Given the description of an element on the screen output the (x, y) to click on. 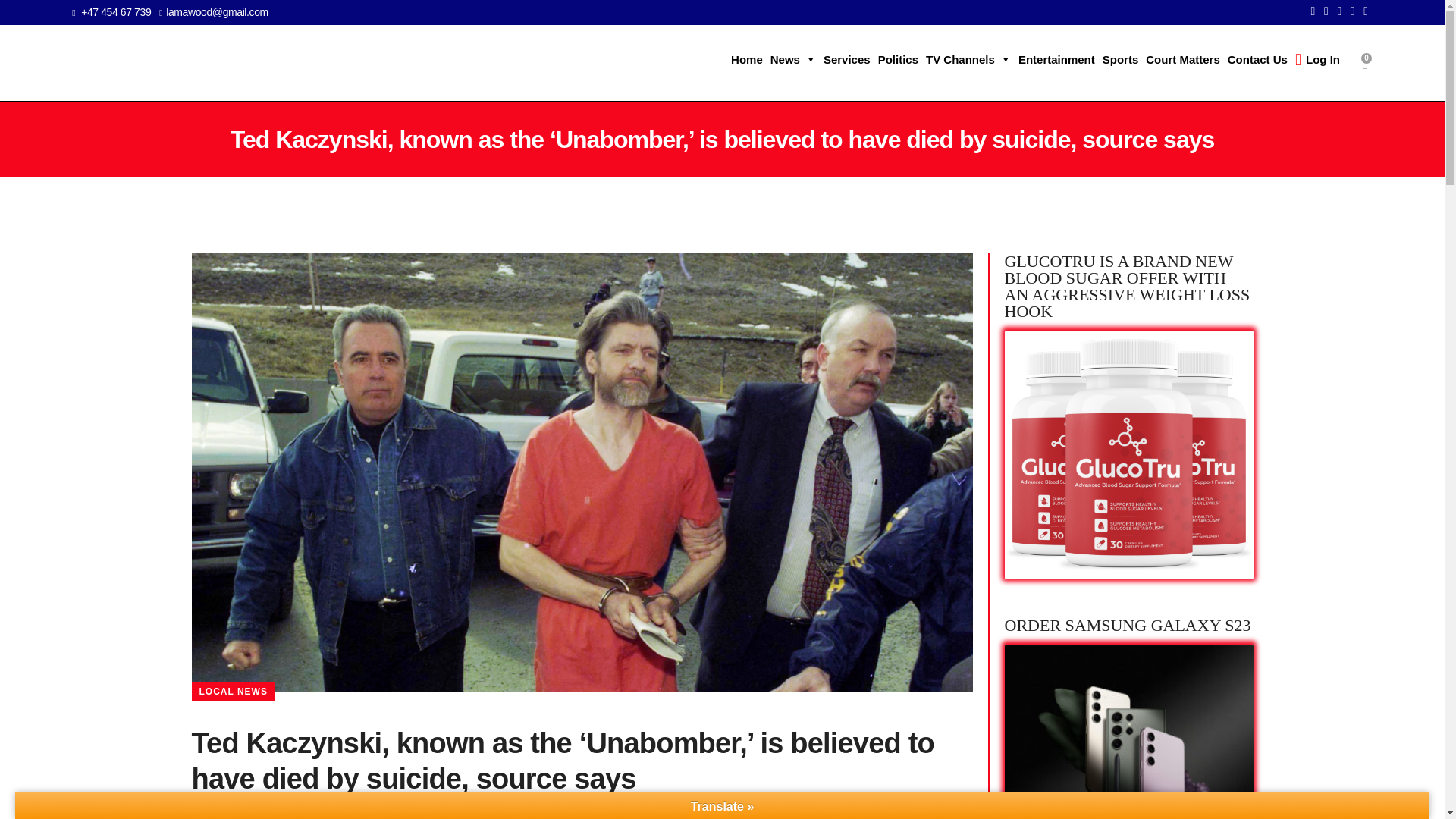
Log In (1317, 60)
Contact Us (1257, 60)
Sports (1120, 60)
Court Matters (1182, 60)
Entertainment (1056, 60)
News (793, 60)
TV Channels (967, 60)
Home (746, 60)
Politics (898, 60)
Services (847, 60)
